Given the description of an element on the screen output the (x, y) to click on. 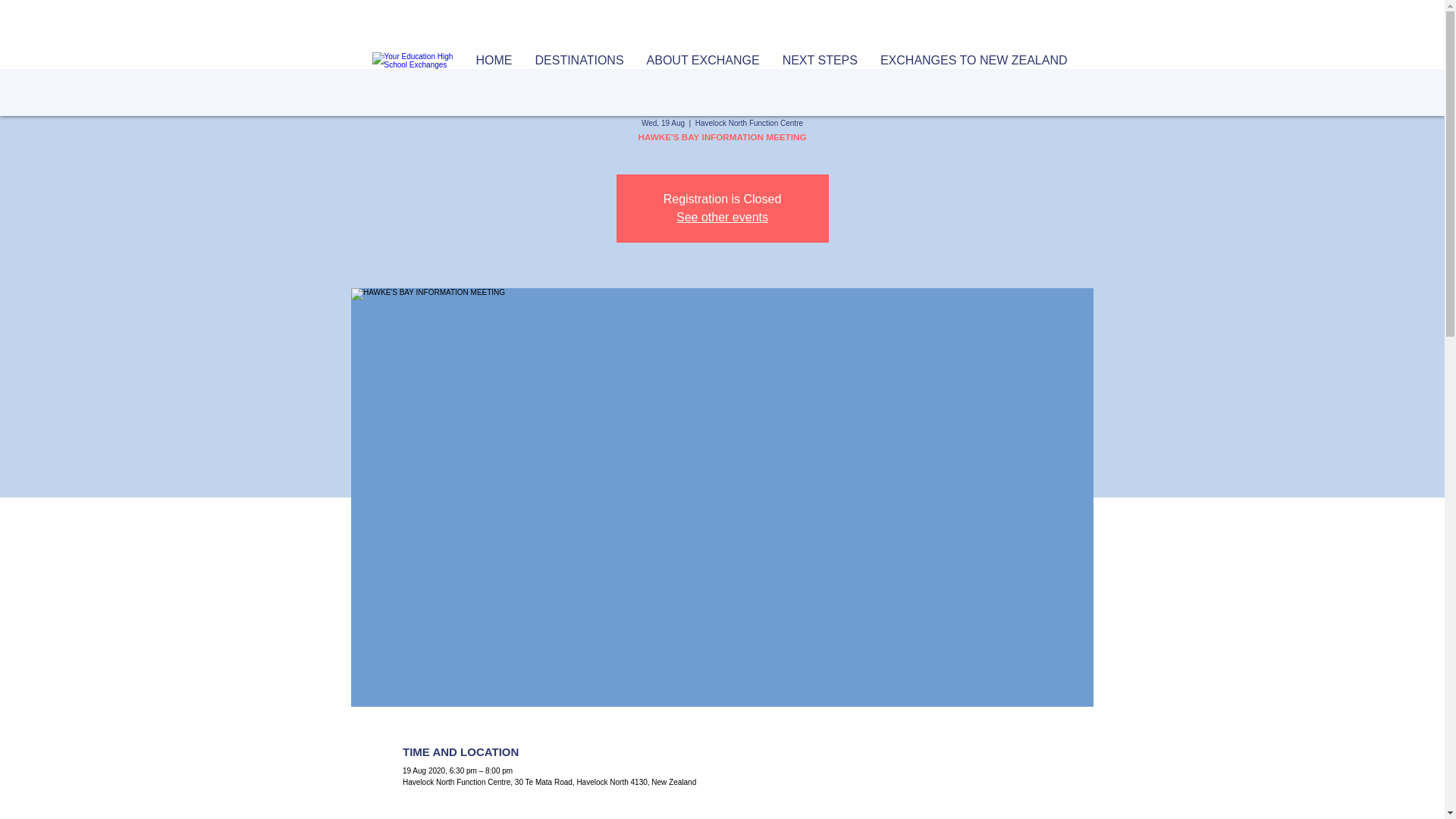
DESTINATIONS (578, 64)
See other events (722, 216)
EXCHANGES TO NEW ZEALAND (973, 64)
NEXT STEPS (820, 64)
ABOUT EXCHANGE (702, 64)
HOME (493, 64)
